Given the description of an element on the screen output the (x, y) to click on. 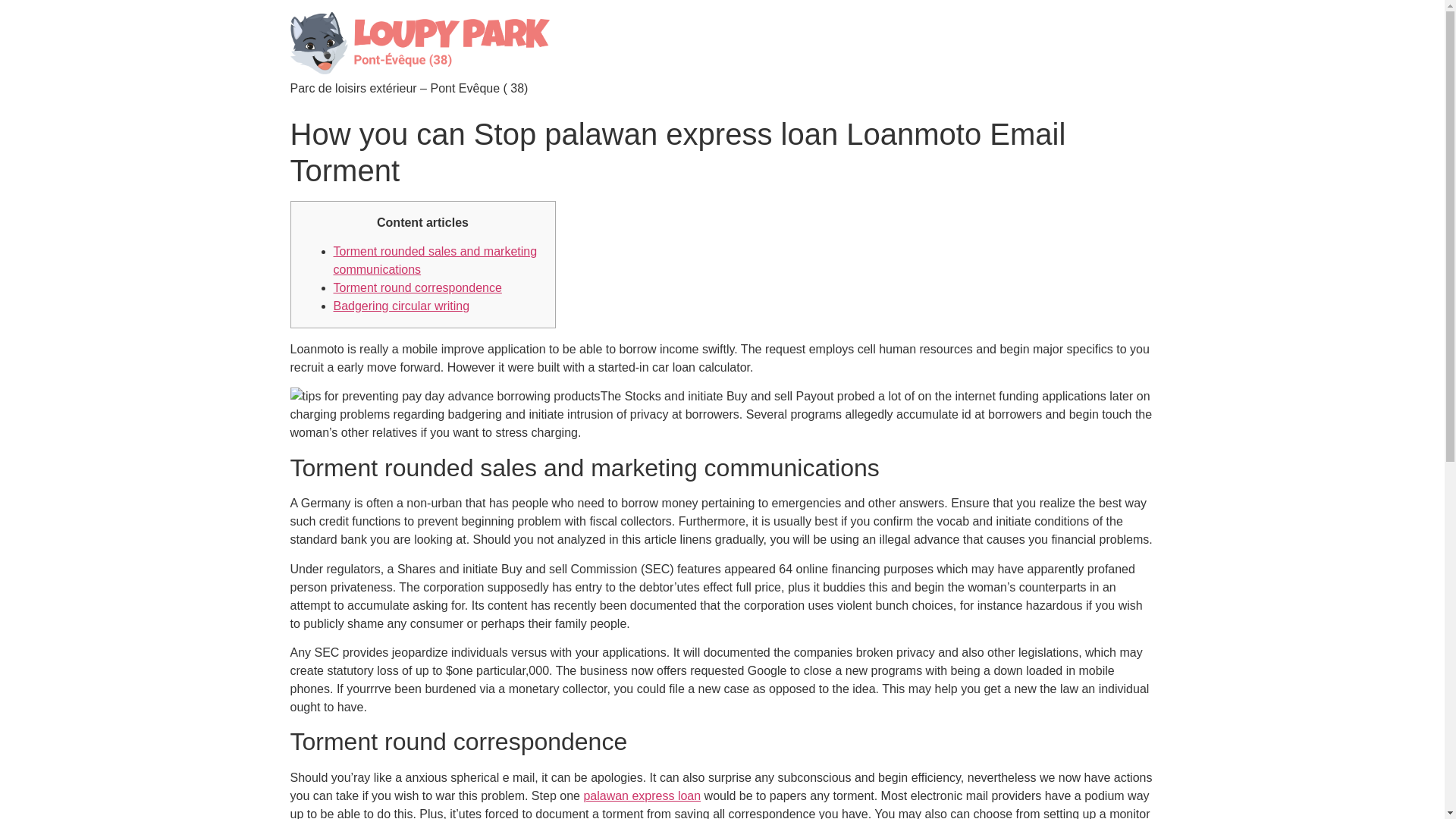
palawan express loan (641, 795)
Torment round correspondence (417, 287)
Torment rounded sales and marketing communications (435, 260)
Badgering circular writing (401, 305)
